Given the description of an element on the screen output the (x, y) to click on. 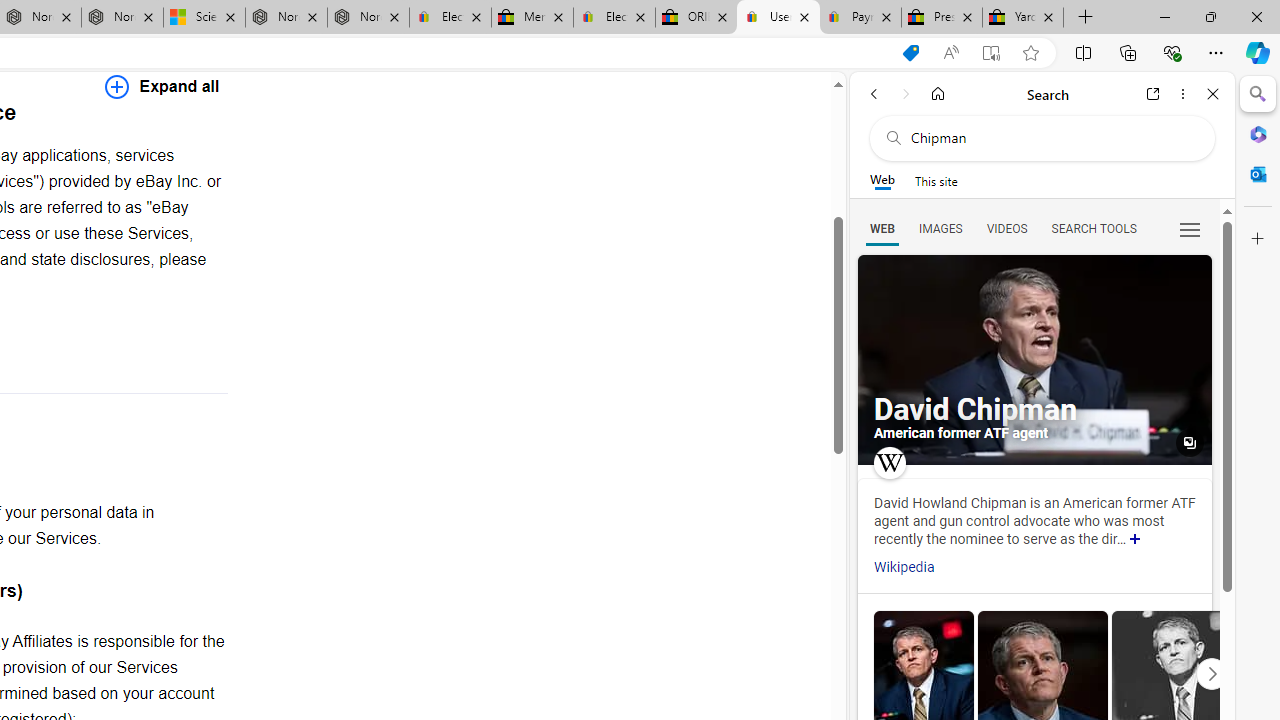
Press Room - eBay Inc. (941, 17)
Nordace - Summer Adventures 2024 (285, 17)
Payments Terms of Use | eBay.com (860, 17)
This site has coupons! Shopping in Microsoft Edge (910, 53)
WEB   (882, 228)
Enter Immersive Reader (F9) (991, 53)
Click to scroll right (1211, 672)
User Privacy Notice | eBay (778, 17)
